Given the description of an element on the screen output the (x, y) to click on. 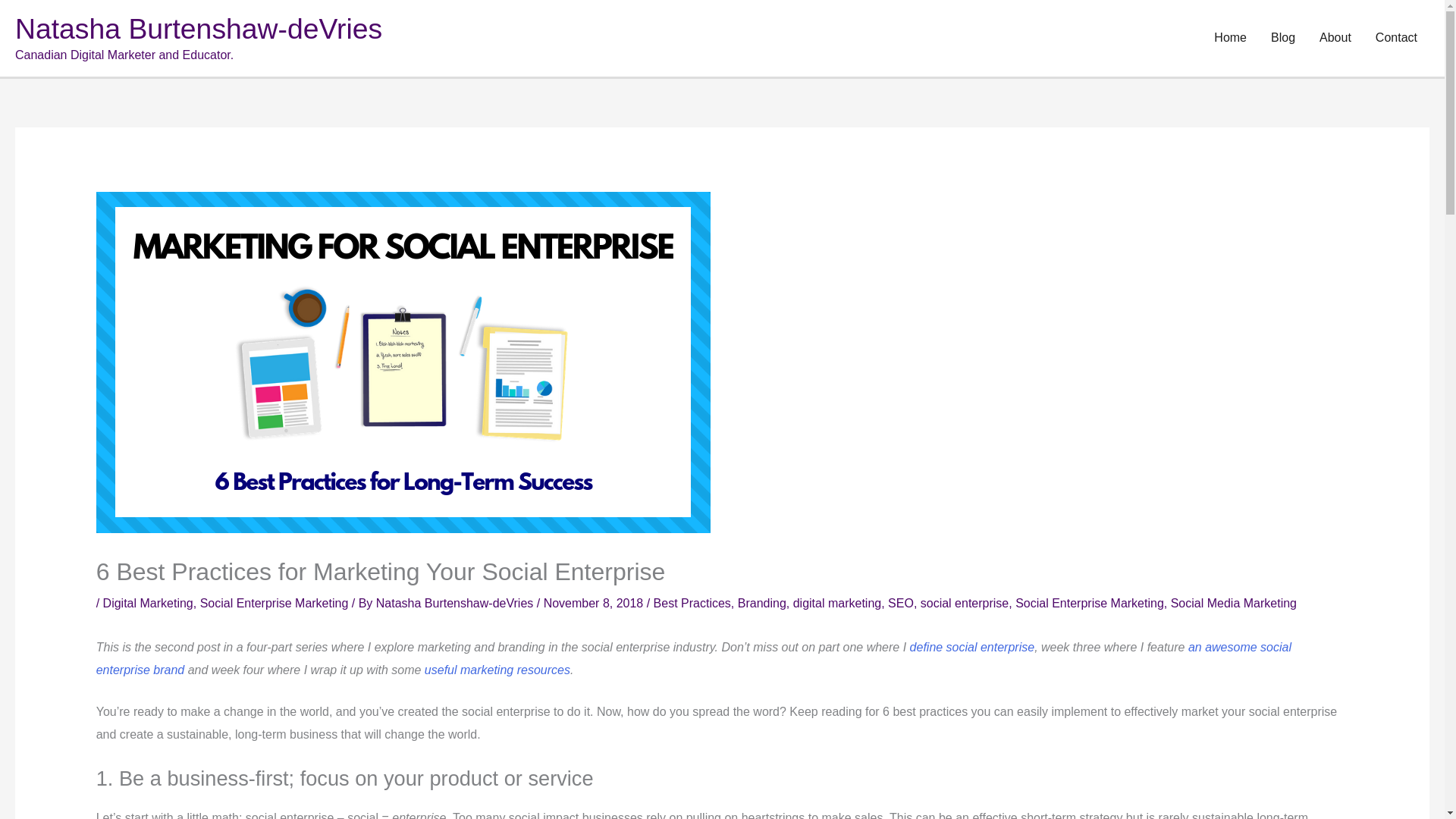
View all posts by Natasha Burtenshaw-deVries (456, 603)
Natasha Burtenshaw-deVries (197, 29)
useful marketing resources (497, 668)
social enterprise (964, 603)
an awesome social enterprise brand (693, 658)
define social enterprise (972, 646)
digital marketing (837, 603)
Social Enterprise Marketing (1088, 603)
Branding (762, 603)
Social Enterprise Marketing (274, 603)
